Given the description of an element on the screen output the (x, y) to click on. 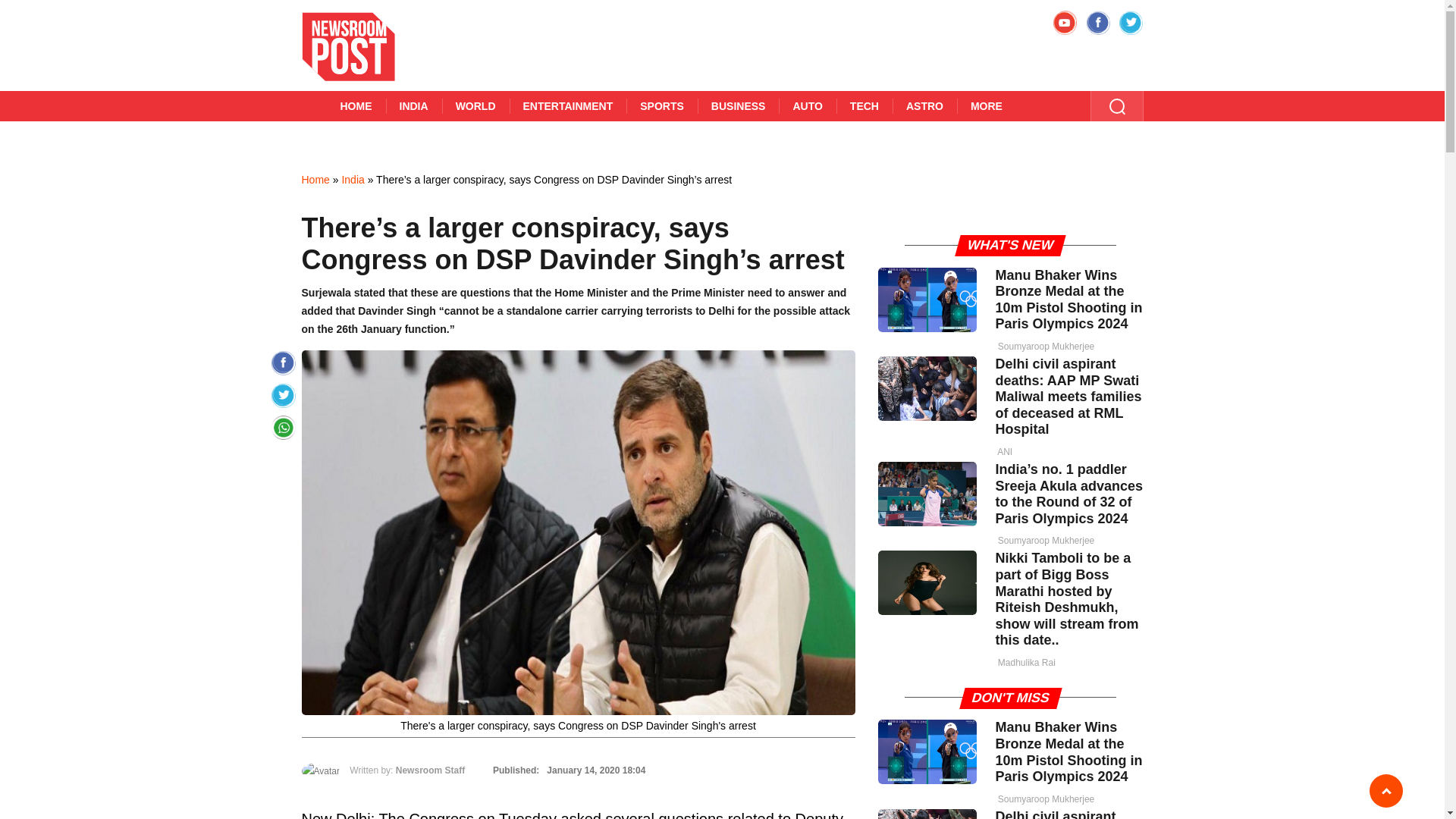
SPORTS (661, 105)
WORLD (475, 105)
Newsroom Staff (430, 769)
ENTERTAINMENT (568, 105)
INDIA (413, 105)
Posts by Newsroom Staff (430, 769)
AUTO (806, 105)
MORE (986, 105)
Published:   January 14, 2020 18:04 (567, 769)
India (352, 179)
